Given the description of an element on the screen output the (x, y) to click on. 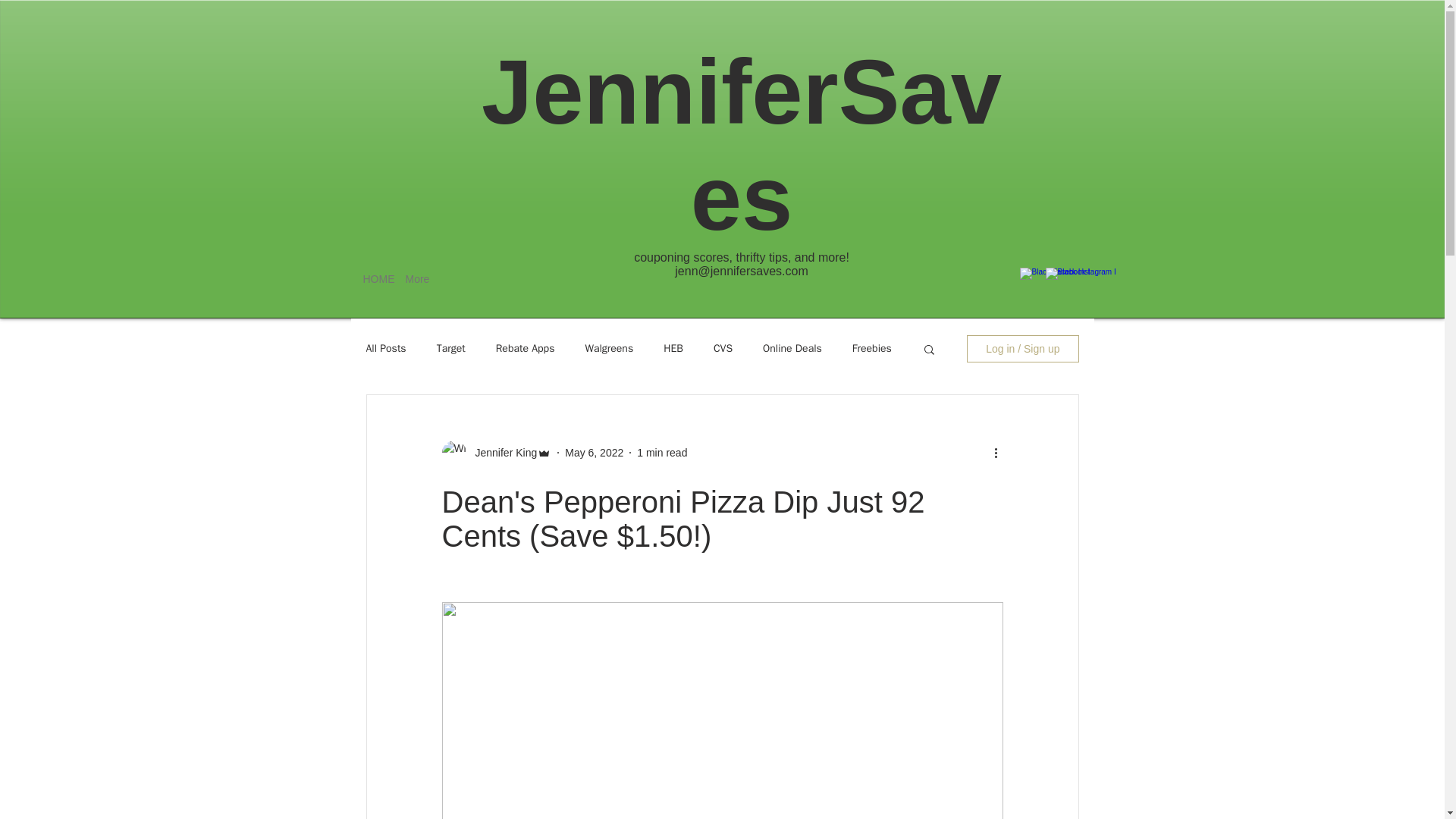
May 6, 2022 (593, 451)
Online Deals (792, 348)
1 min read (662, 451)
Freebies (871, 348)
Target (450, 348)
Walgreens (609, 348)
CVS (722, 348)
Rebate Apps (525, 348)
Jennifer King (501, 452)
JenniferSaves (741, 144)
HOME (373, 279)
HEB (672, 348)
All Posts (385, 348)
